Given the description of an element on the screen output the (x, y) to click on. 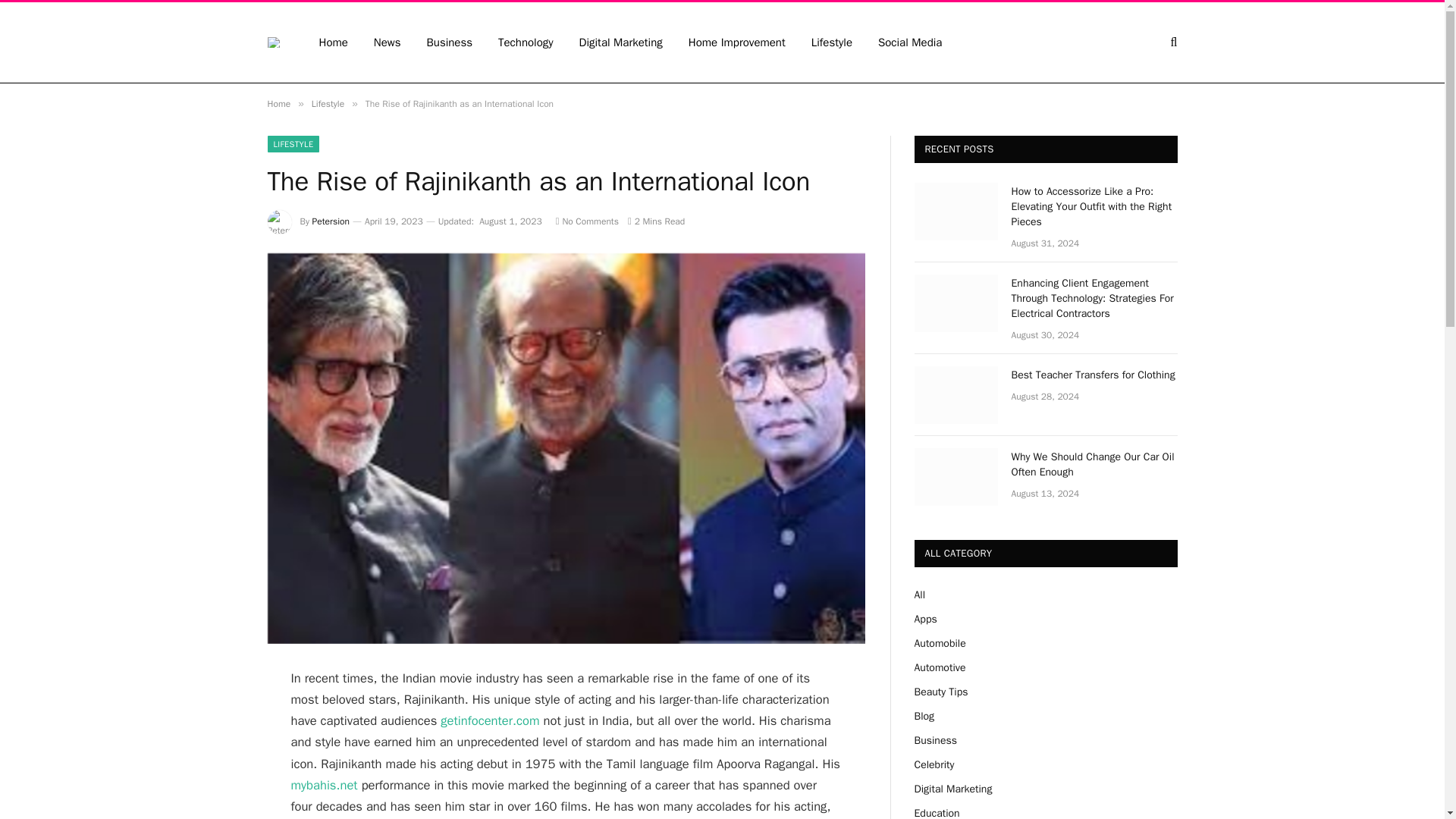
Posts by Petersion (331, 221)
getinfocenter.com (489, 720)
Petersion (331, 221)
Digital Marketing (620, 42)
No Comments (587, 221)
LIFESTYLE (292, 143)
mybahis.net (324, 785)
Technology (525, 42)
